Given the description of an element on the screen output the (x, y) to click on. 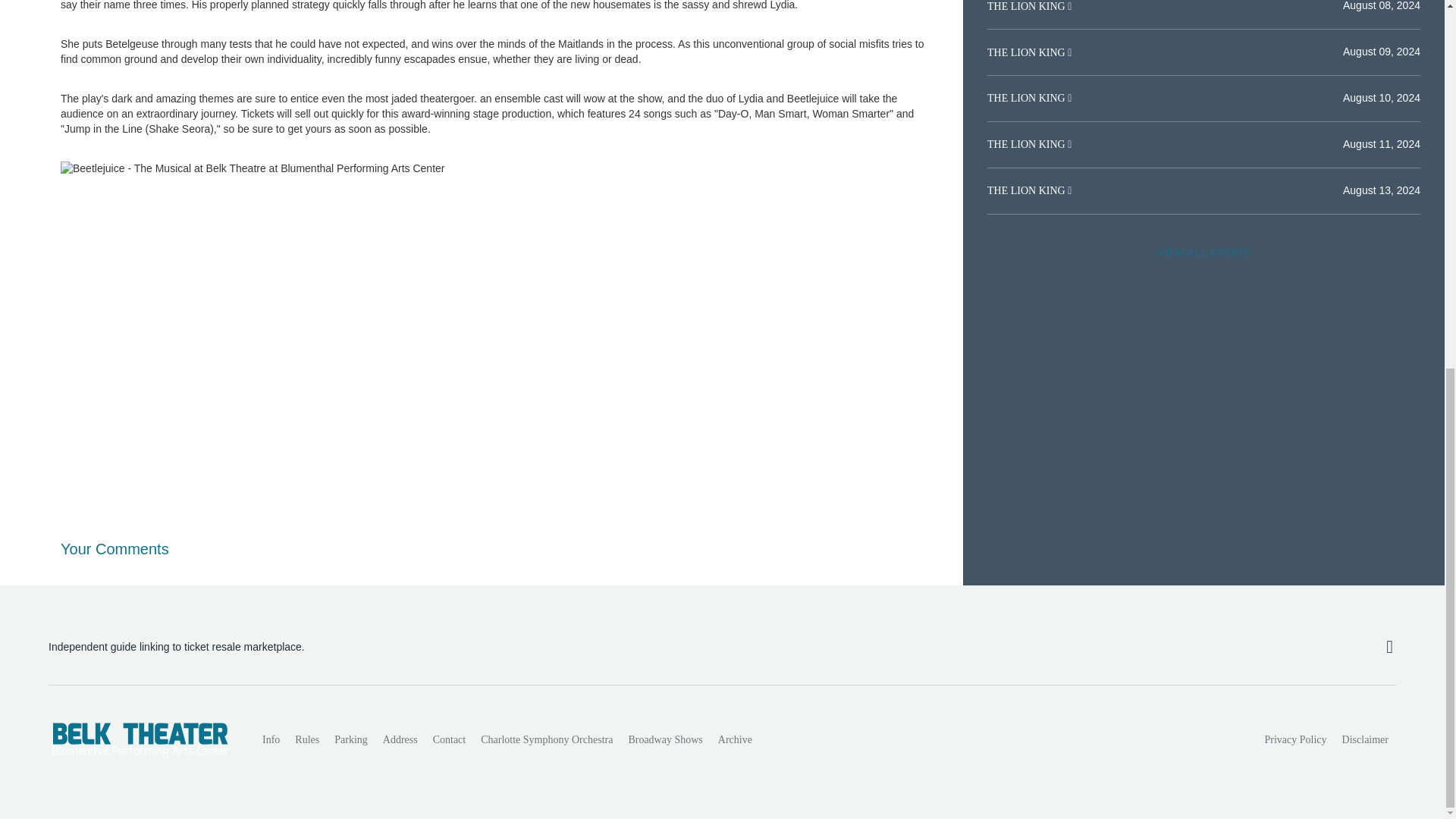
Info (270, 739)
THE LION KING (1027, 98)
Privacy Policy (1296, 739)
THE LION KING (1027, 6)
Disclaimer (1365, 739)
Rules (306, 739)
Archive (735, 739)
THE LION KING (1027, 143)
Contact (449, 739)
Broadway Shows (665, 739)
Parking (350, 739)
Charlotte Symphony Orchestra (546, 739)
Address (400, 739)
THE LION KING (1027, 190)
THE LION KING (1027, 52)
